Given the description of an element on the screen output the (x, y) to click on. 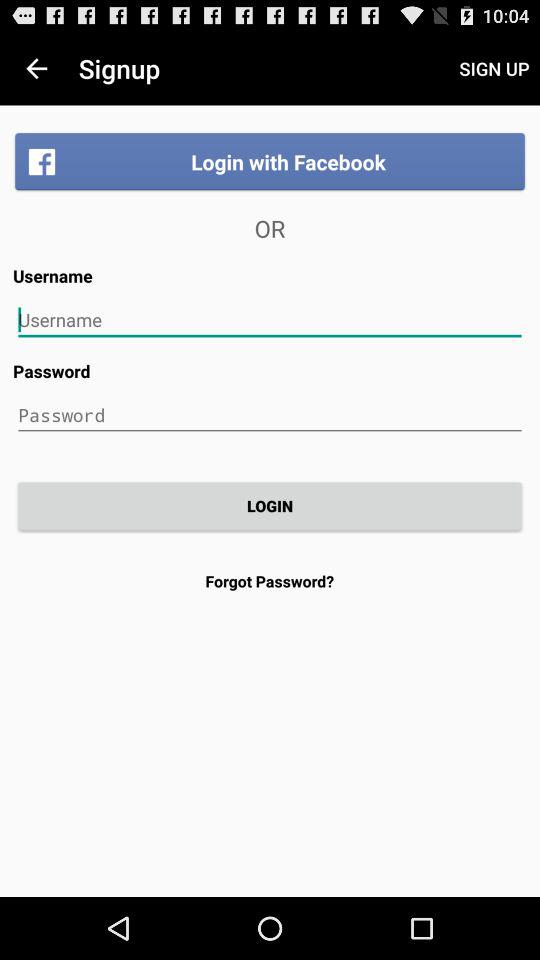
enter the username (269, 320)
